Given the description of an element on the screen output the (x, y) to click on. 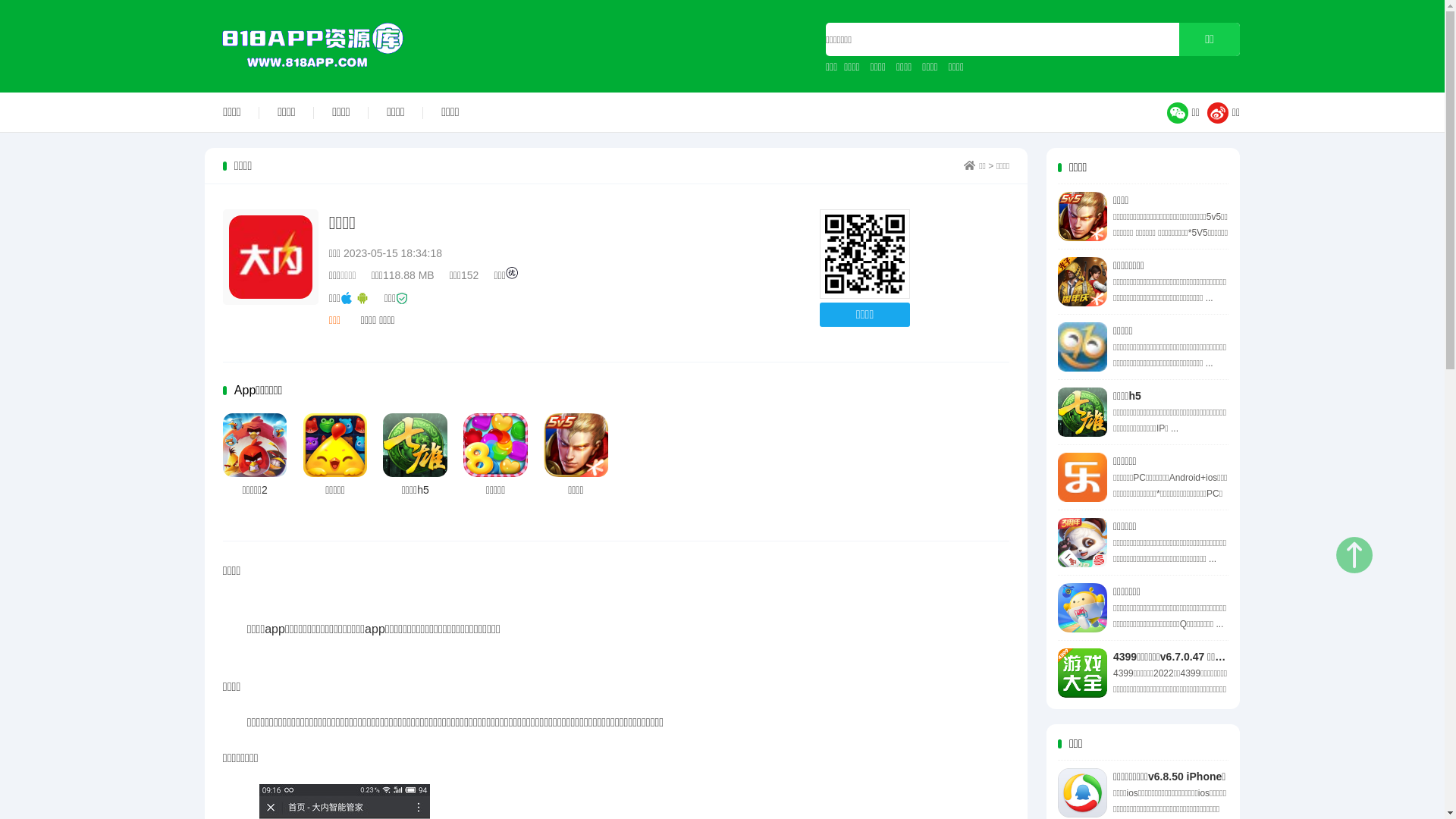
http://www.818app.com Element type: hover (864, 254)
